Given the description of an element on the screen output the (x, y) to click on. 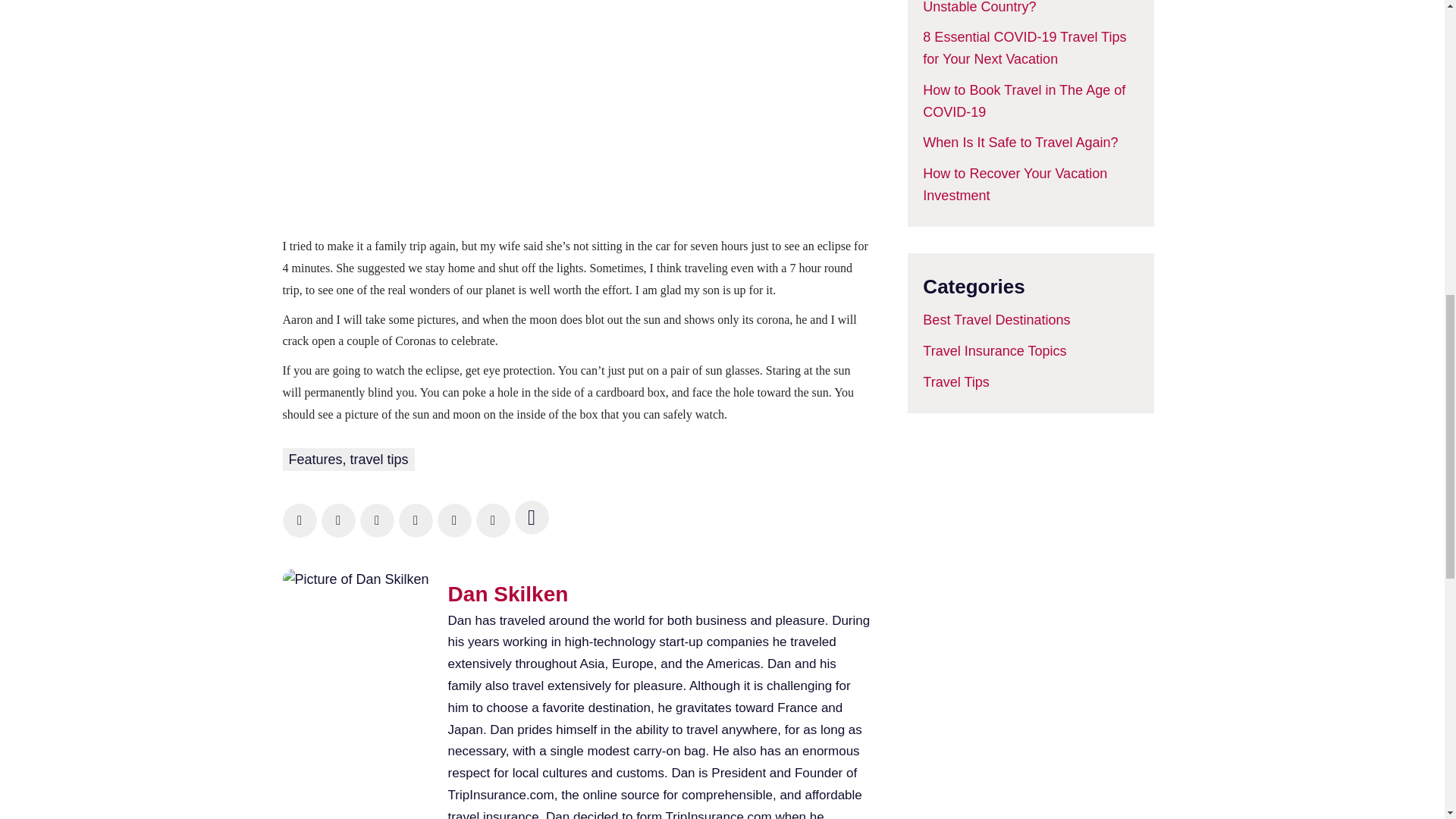
When Is It Safe to Travel Again? (1020, 142)
Travel Insurance Topics (994, 350)
Best Travel Destinations (996, 319)
8 Essential COVID-19 Travel Tips for Your Next Vacation (1024, 47)
Travel Tips (955, 381)
How to Recover Your Vacation Investment (1014, 184)
How to Book Travel in The Age of COVID-19 (1024, 100)
Features (315, 459)
travel tips (379, 459)
